Given the description of an element on the screen output the (x, y) to click on. 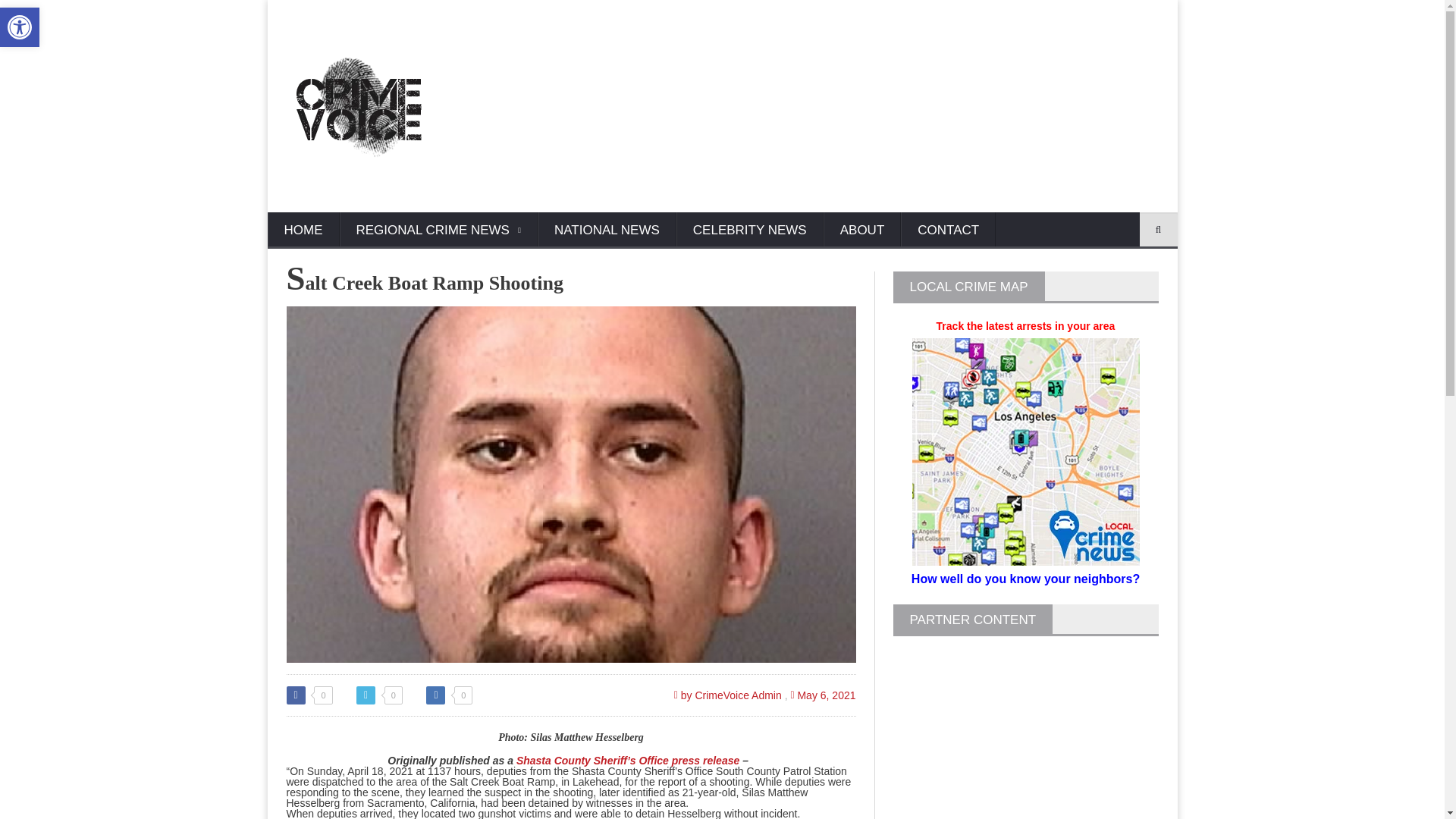
REGIONAL CRIME NEWS (438, 230)
CELEBRITY NEWS (750, 230)
HOME (302, 230)
Regional Crime News (438, 230)
0 (448, 695)
NATIONAL NEWS (607, 230)
May 6, 2021 (823, 695)
by CrimeVoice Admin (727, 695)
Advertisement (885, 106)
CONTACT (948, 230)
Accessibility Tools (19, 27)
0 (379, 695)
ABOUT (862, 230)
Celebrity Arrest News (750, 230)
0 (309, 695)
